Given the description of an element on the screen output the (x, y) to click on. 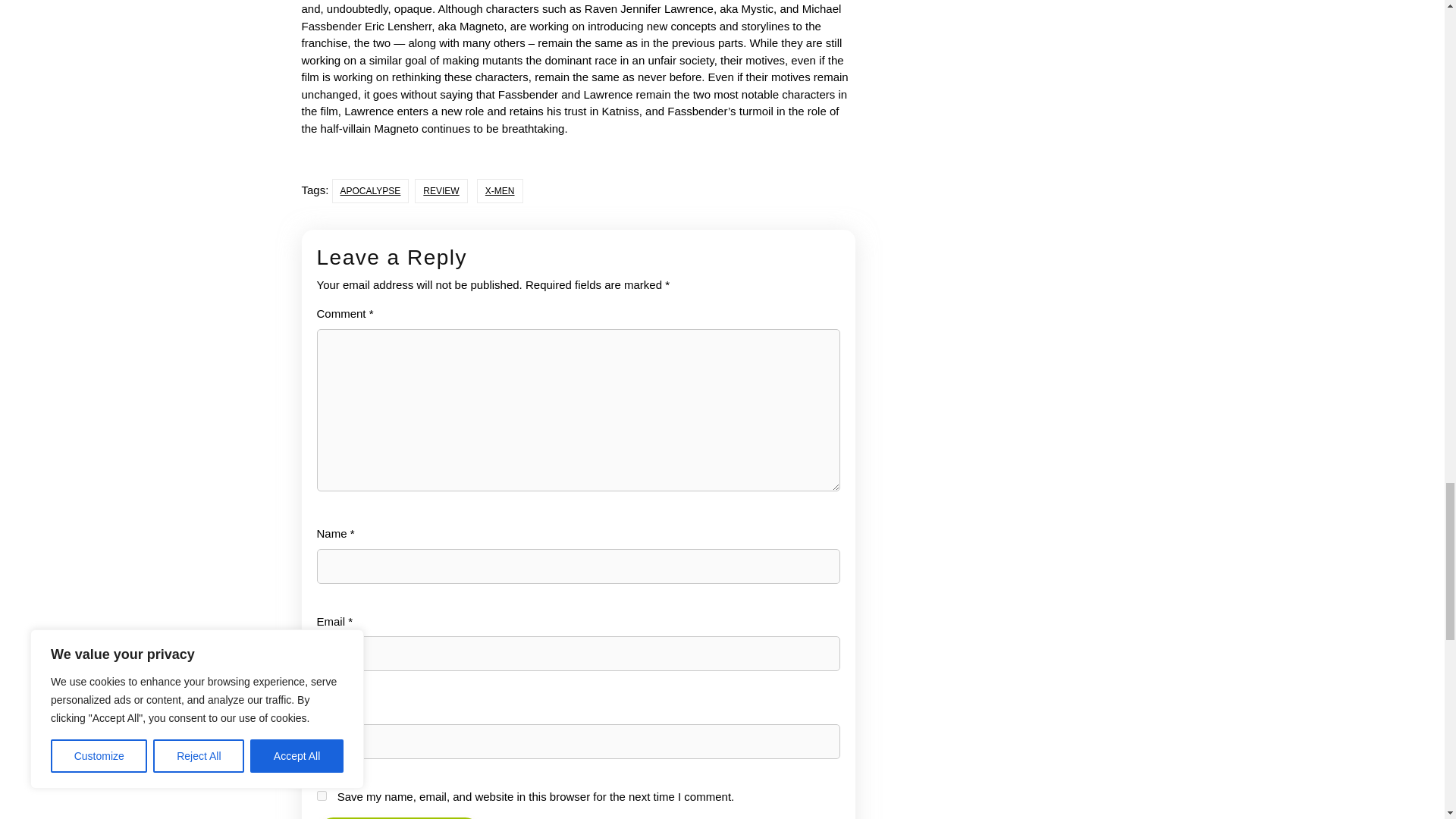
X-MEN (499, 191)
APOCALYPSE (370, 191)
REVIEW (440, 191)
yes (321, 795)
